Given the description of an element on the screen output the (x, y) to click on. 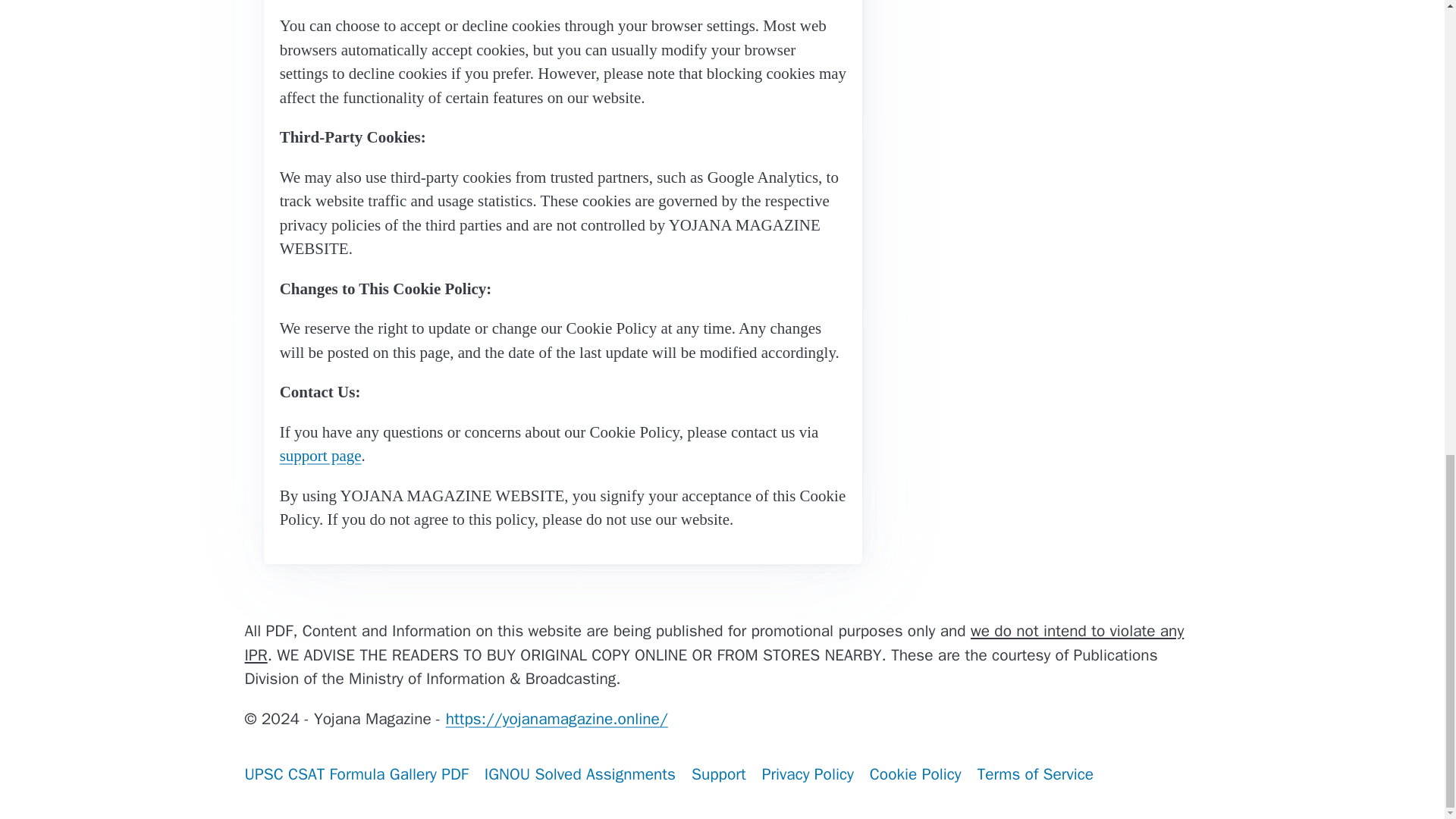
IGNOU Solved Assignments (579, 775)
Terms of Service (1035, 775)
Support (718, 775)
UPSC CSAT Formula Gallery PDF (355, 775)
Cookie Policy (915, 775)
support page (320, 455)
Privacy Policy (807, 775)
